Given the description of an element on the screen output the (x, y) to click on. 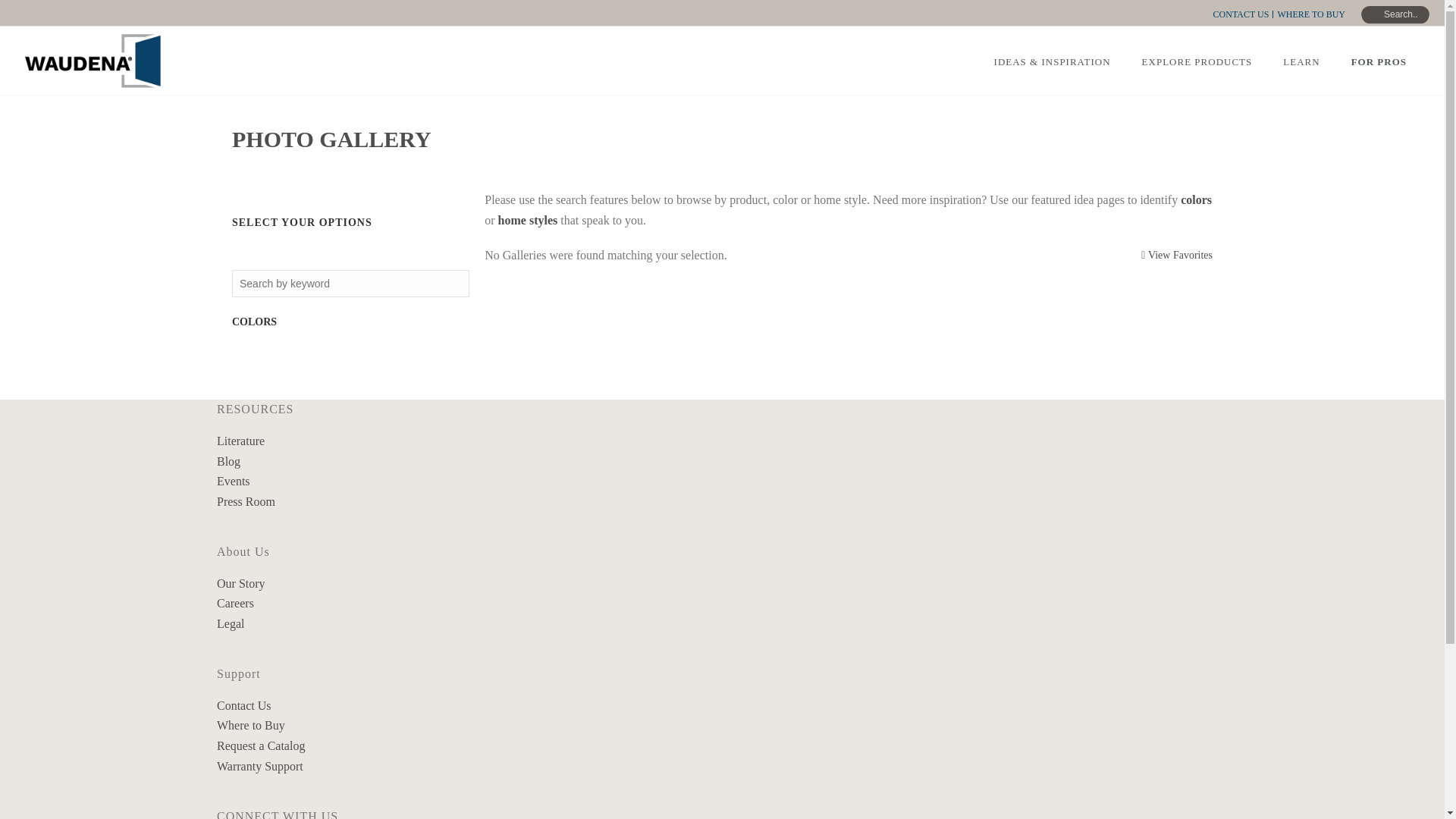
EXPLORE PRODUCTS (1197, 60)
Quality Home Improvement Products (92, 60)
CONTACT US (1241, 14)
LEARN (1301, 60)
WHERE TO BUY (1310, 14)
FOR PROS (1379, 60)
FOR PROS (1379, 60)
LEARN (1301, 60)
EXPLORE PRODUCTS (1197, 60)
